Given the description of an element on the screen output the (x, y) to click on. 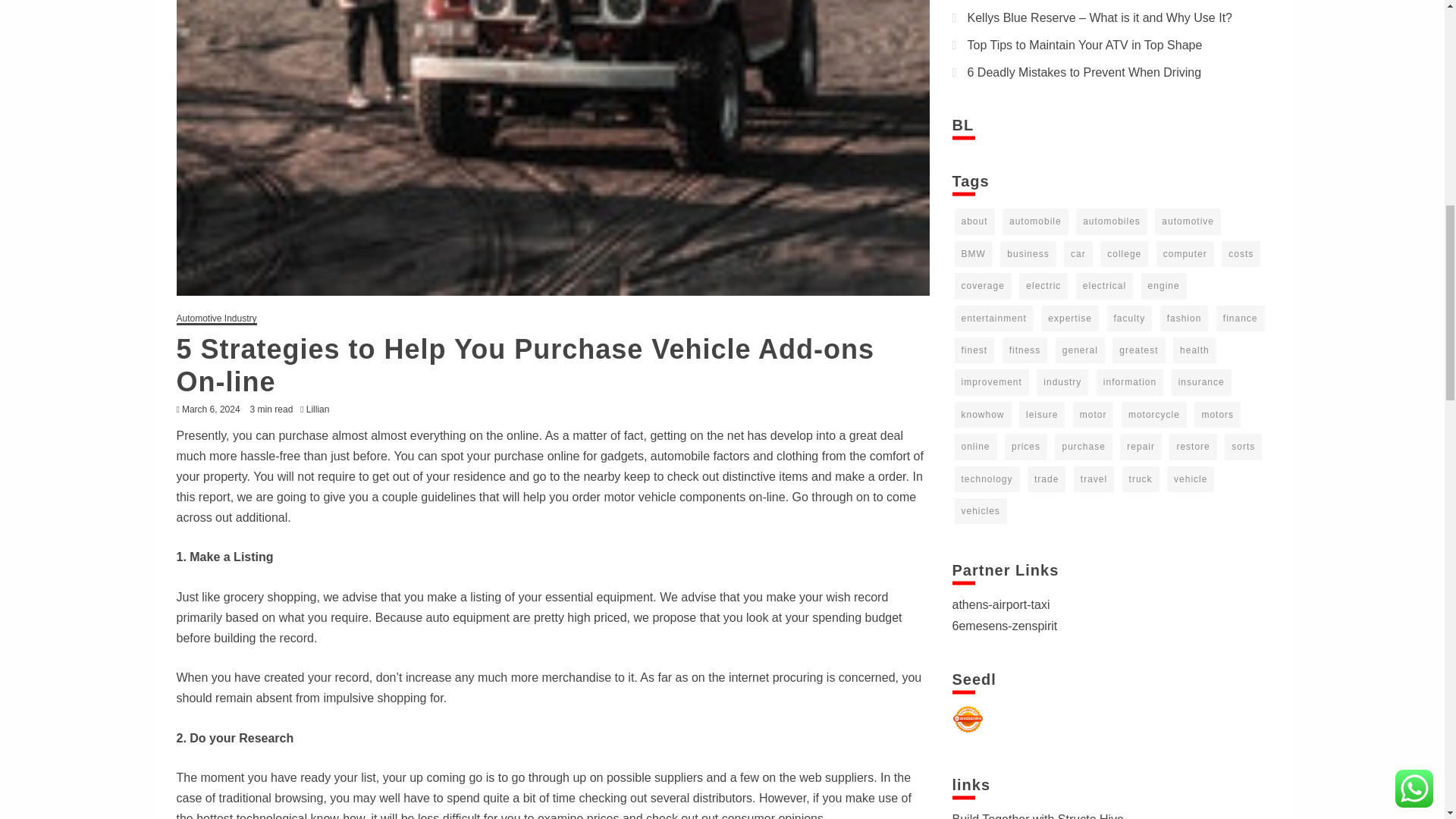
Automotive Industry (216, 319)
Seedbacklink (968, 719)
Lillian (321, 409)
March 6, 2024 (211, 409)
